Given the description of an element on the screen output the (x, y) to click on. 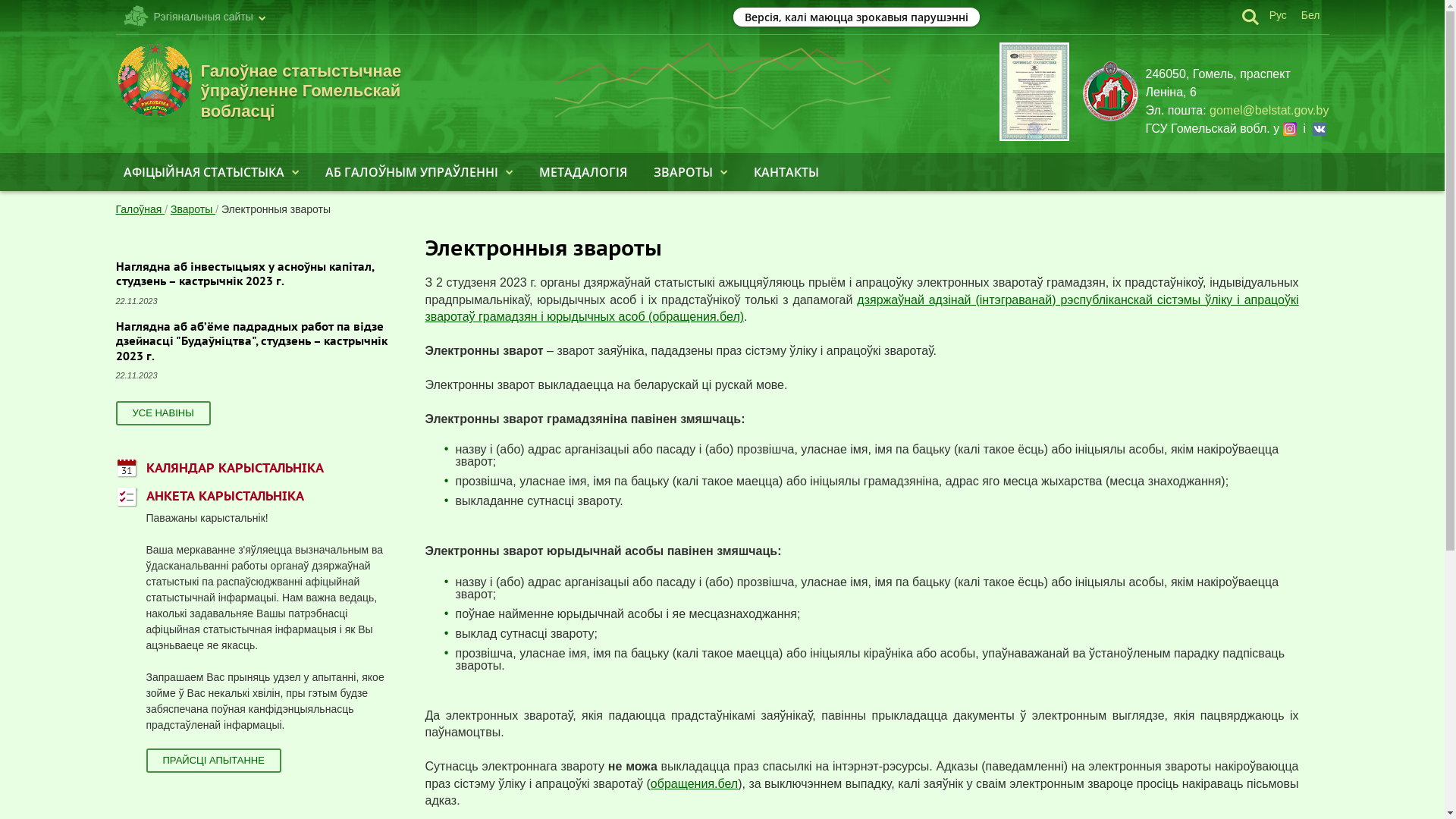
gomel@belstat.gov.by Element type: text (1268, 110)
